Given the description of an element on the screen output the (x, y) to click on. 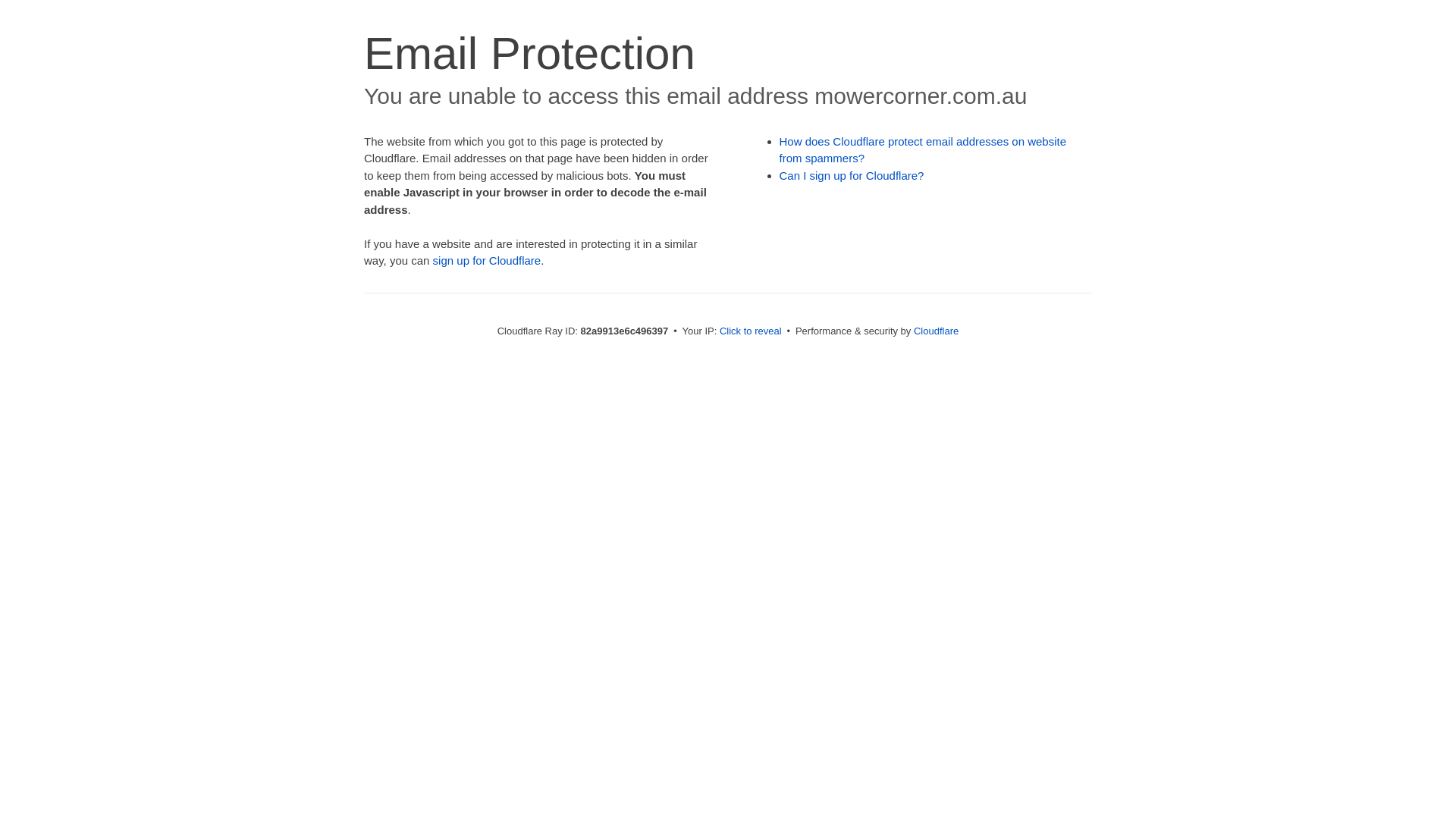
sign up for Cloudflare Element type: text (487, 260)
Cloudflare Element type: text (935, 330)
Click to reveal Element type: text (750, 330)
Can I sign up for Cloudflare? Element type: text (851, 175)
